Given the description of an element on the screen output the (x, y) to click on. 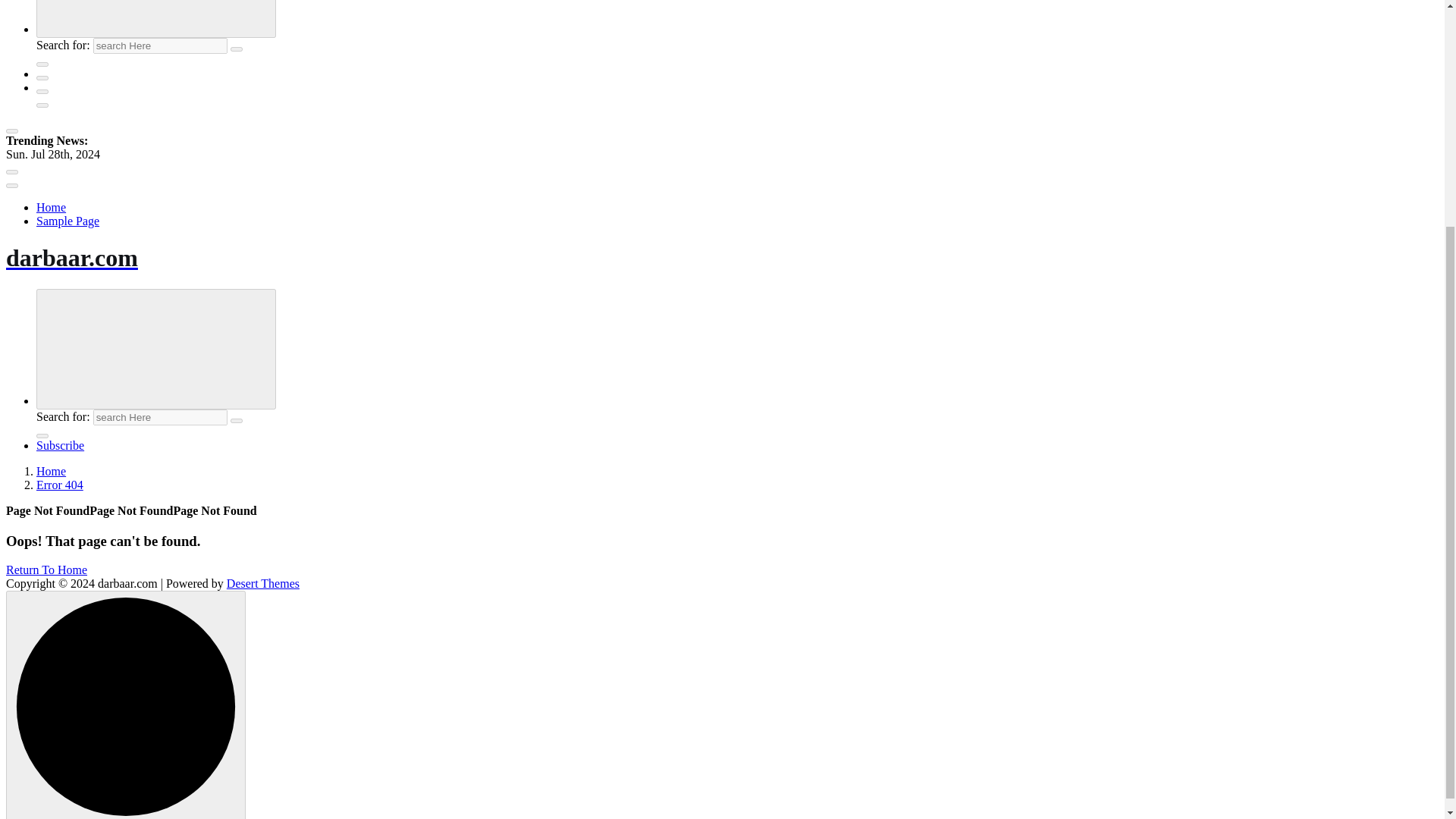
Error 404 (59, 484)
Home (50, 206)
Return To Home (46, 569)
Desert Themes (263, 583)
Home (50, 471)
Sample Page (67, 220)
Home (50, 206)
Subscribe (60, 445)
